Given the description of an element on the screen output the (x, y) to click on. 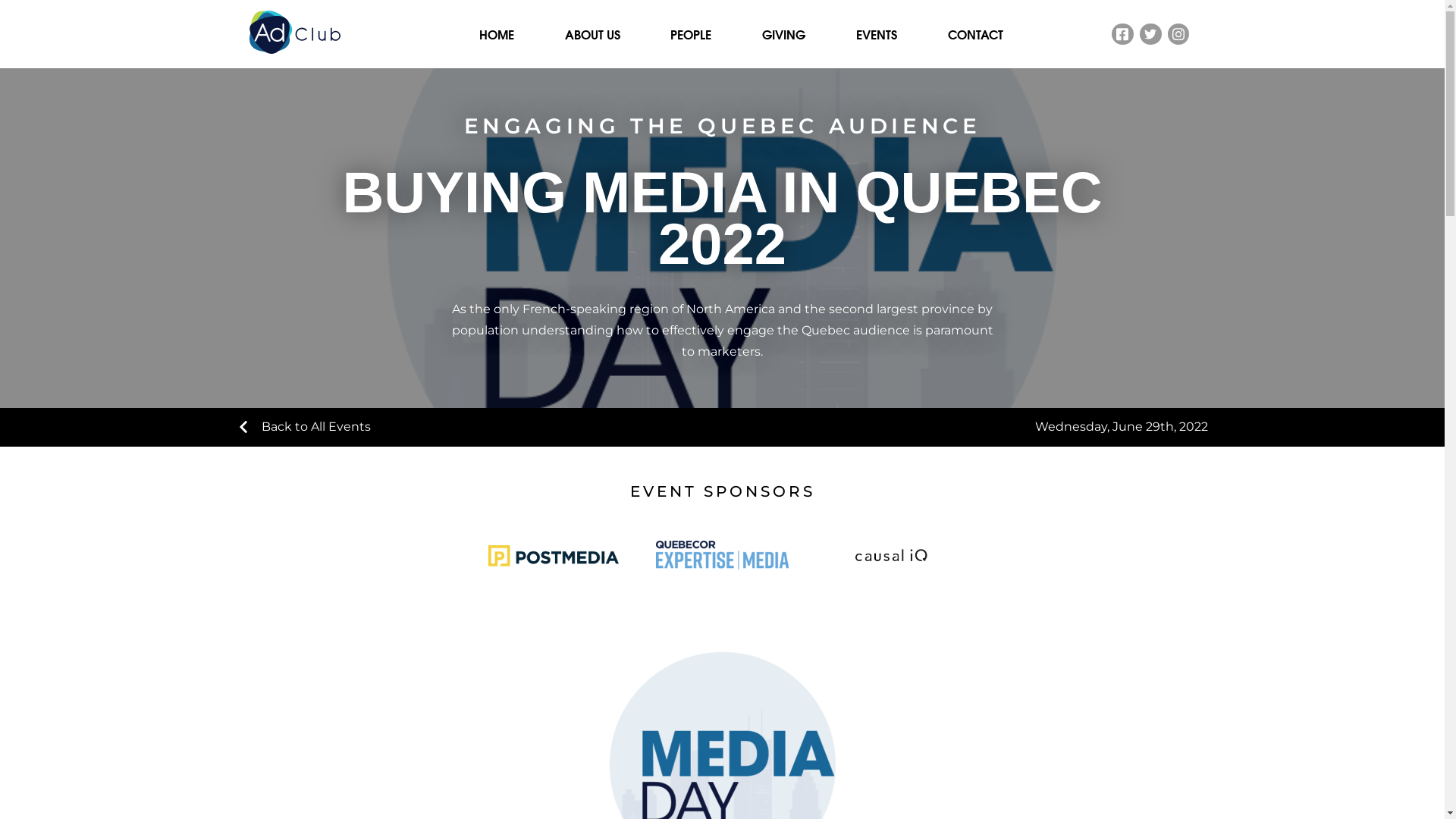
Back to All Events Element type: text (303, 427)
GIVING Element type: text (783, 34)
HOME Element type: text (496, 34)
ABOUT US Element type: text (592, 34)
CONTACT Element type: text (975, 34)
PEOPLE Element type: text (690, 34)
EVENTS Element type: text (876, 34)
